Given the description of an element on the screen output the (x, y) to click on. 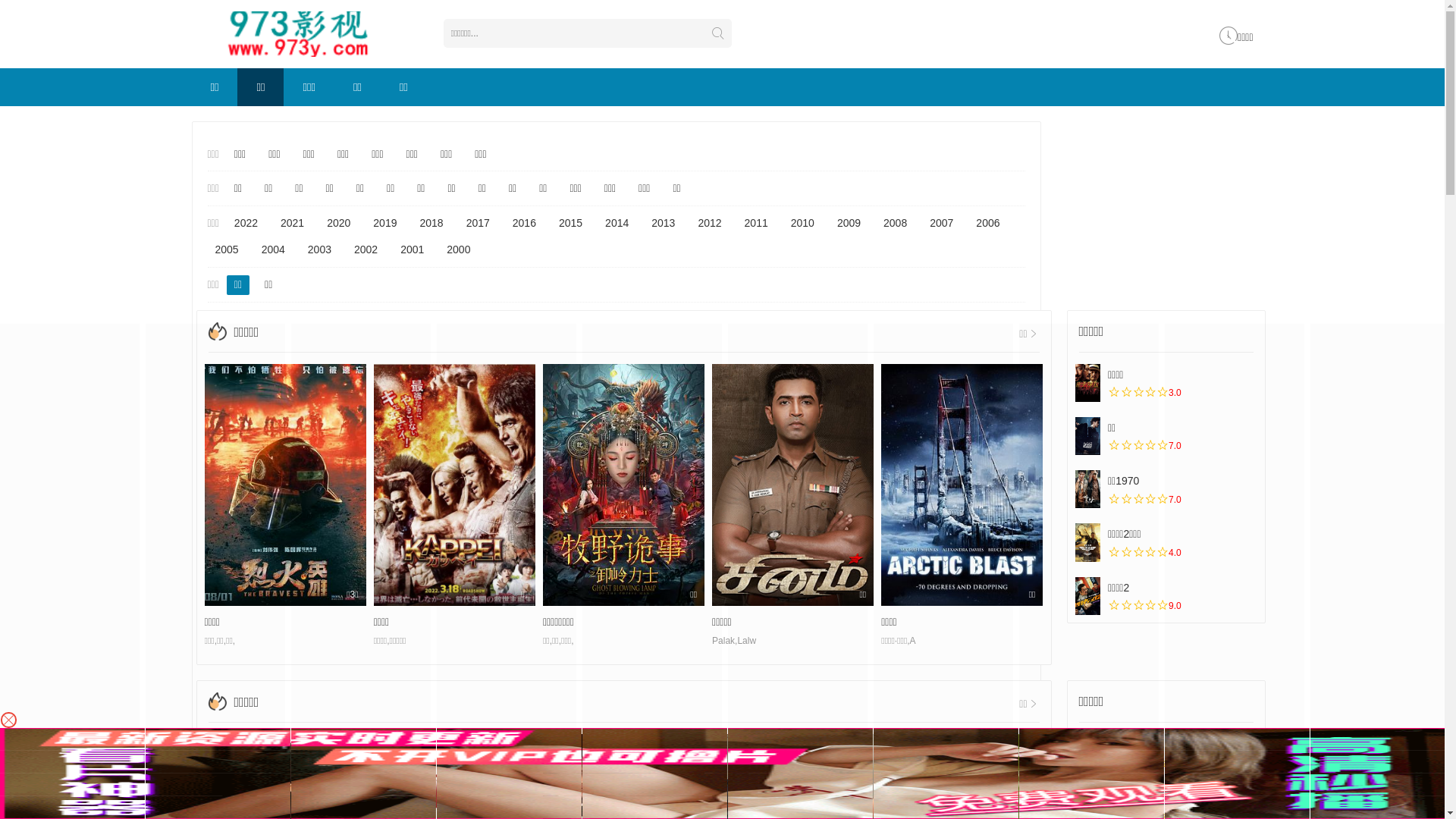
2016 Element type: text (524, 223)
2015 Element type: text (570, 223)
2006 Element type: text (987, 223)
2003 Element type: text (319, 250)
2005 Element type: text (226, 250)
2011 Element type: text (756, 223)
2012 Element type: text (709, 223)
2018 Element type: text (430, 223)
2009 Element type: text (848, 223)
2014 Element type: text (616, 223)
2017 Element type: text (477, 223)
2022 Element type: text (245, 223)
2000 Element type: text (458, 250)
2010 Element type: text (802, 223)
2013 Element type: text (662, 223)
2004 Element type: text (273, 250)
2007 Element type: text (941, 223)
2008 Element type: text (894, 223)
2019 Element type: text (384, 223)
2021 Element type: text (292, 223)
2020 Element type: text (338, 223)
2001 Element type: text (411, 250)
2002 Element type: text (365, 250)
